Given the description of an element on the screen output the (x, y) to click on. 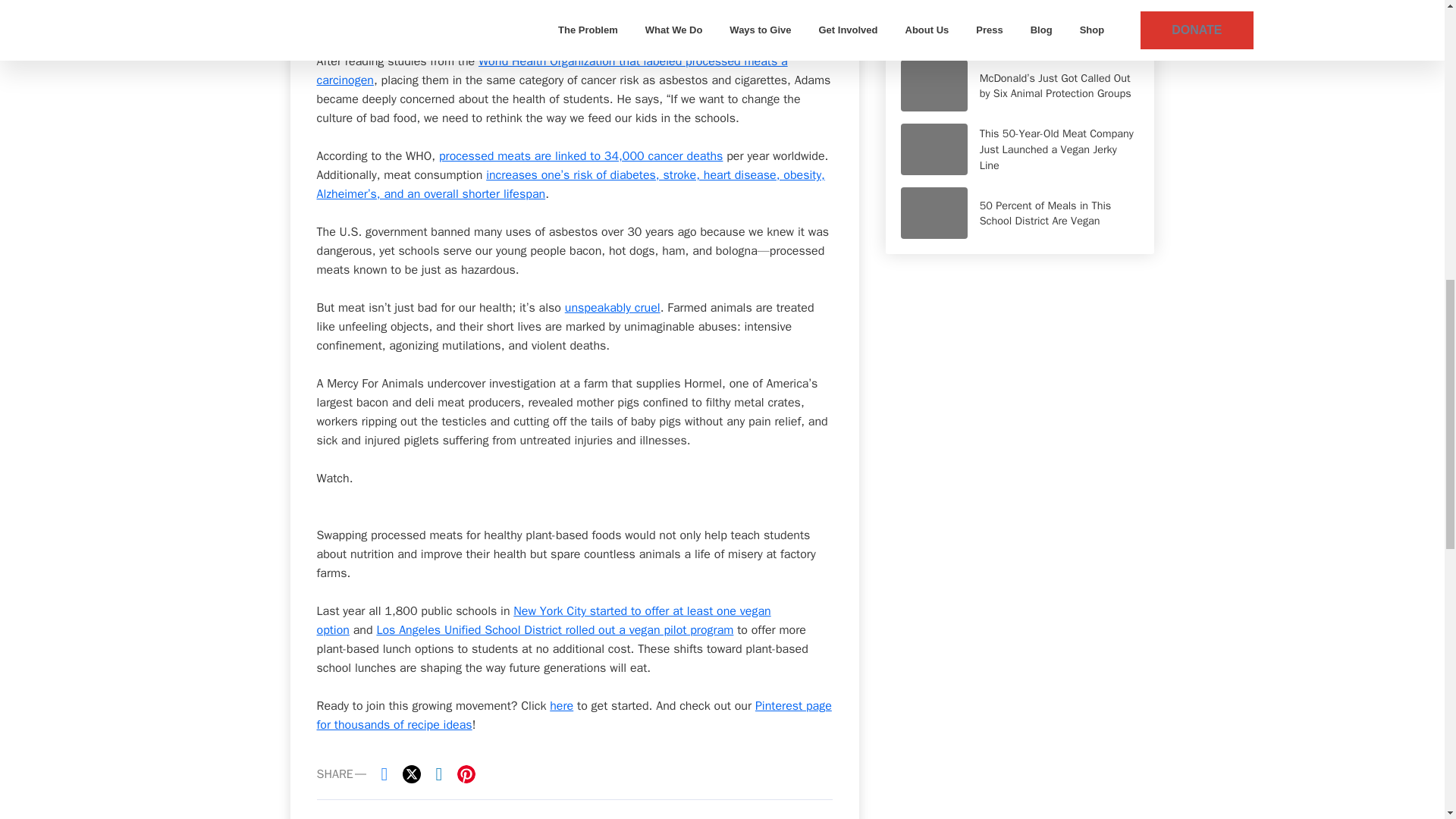
Share on Facebook (384, 773)
Share on Pinterest (466, 773)
Share on LinkedIn (438, 773)
Share on X (411, 773)
